Given the description of an element on the screen output the (x, y) to click on. 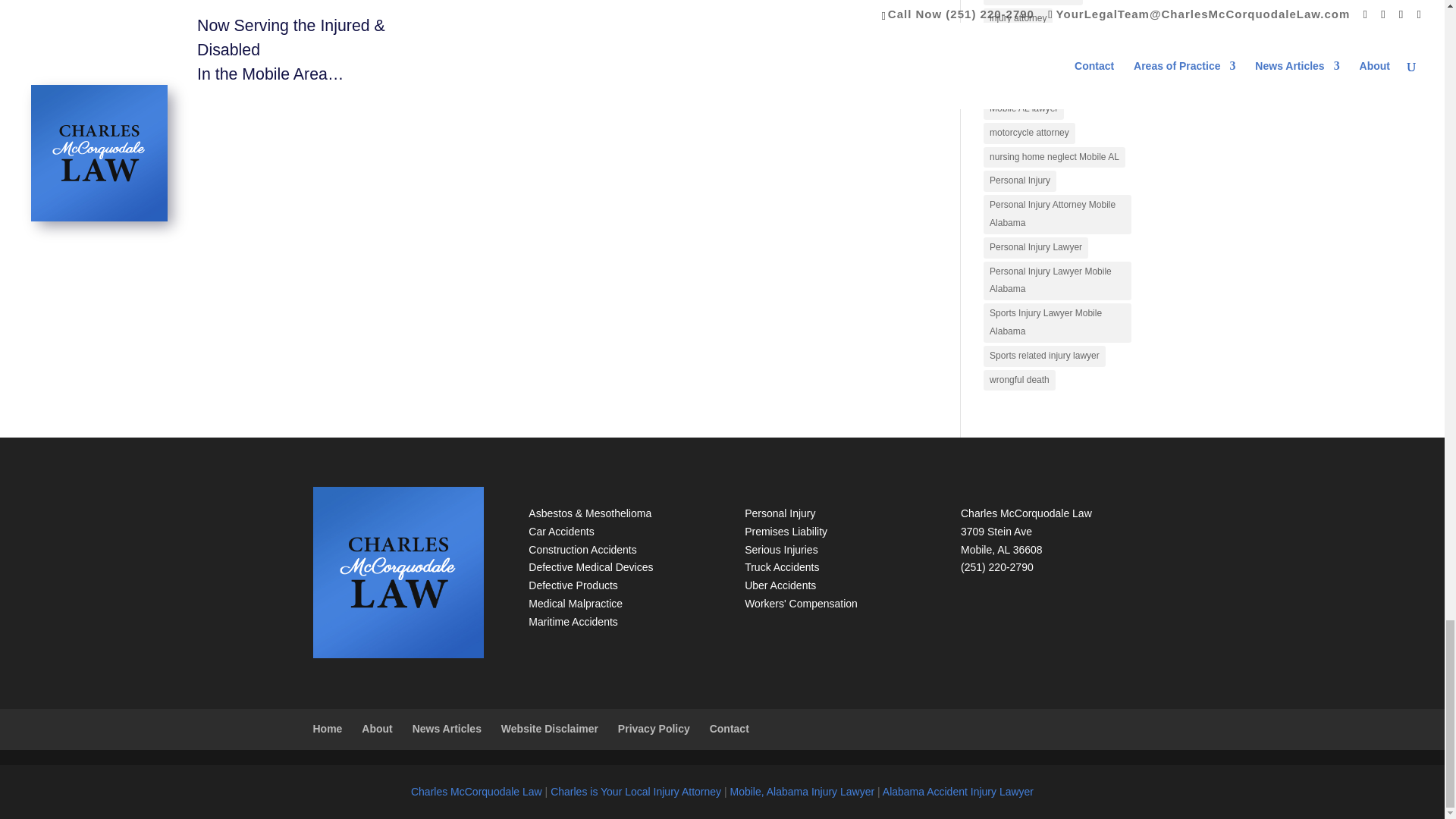
Local Injury Attorney in Mobile, Alabama (635, 791)
Best Injury Lawyer in Mobile, AL (802, 791)
Best Accident Injury Lawyer in ALabama (957, 791)
